Given the description of an element on the screen output the (x, y) to click on. 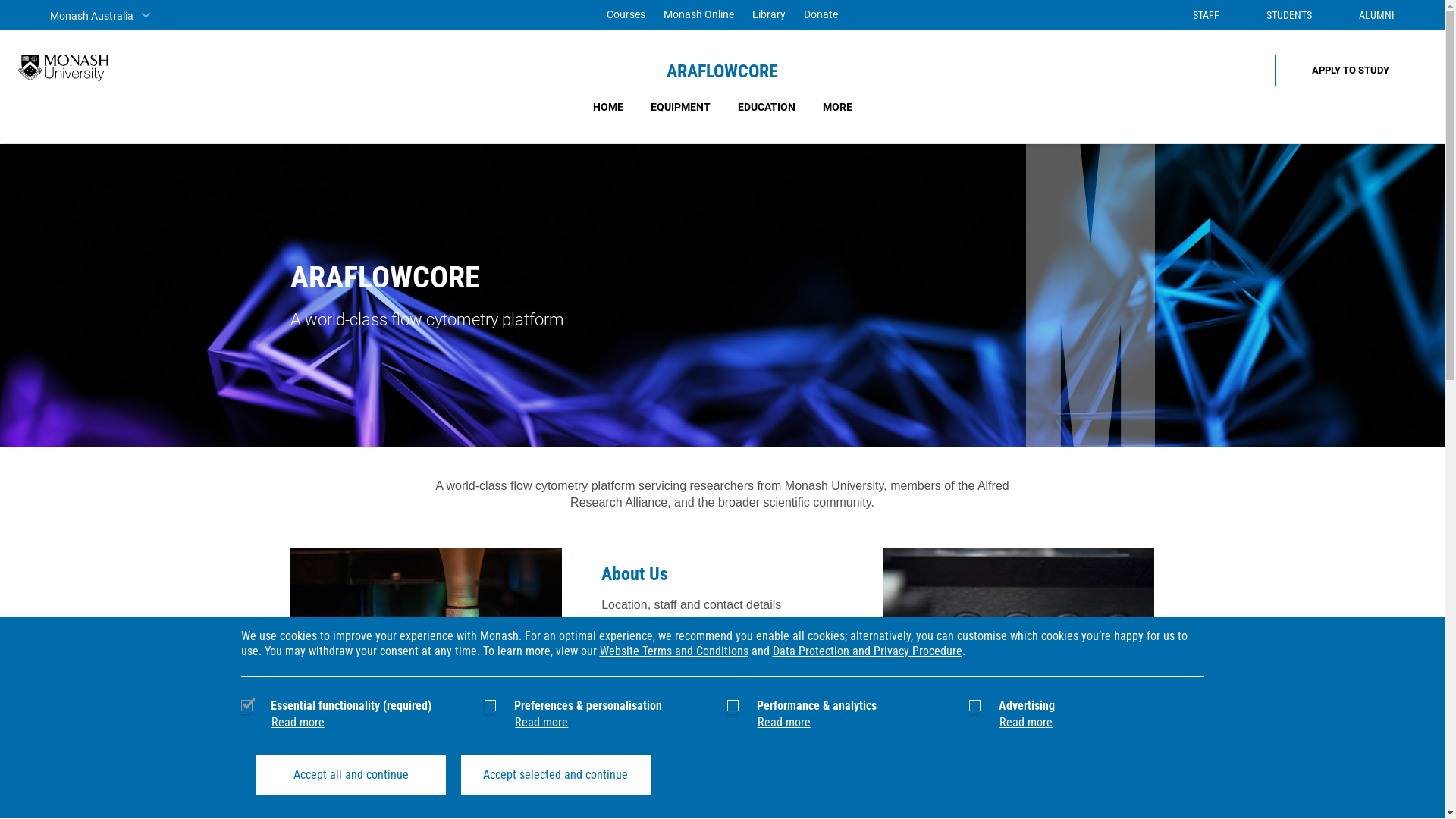
Read more Element type: text (540, 722)
FlowCore Nodes Element type: text (660, 717)
EDUCATION Element type: text (765, 106)
Courses Element type: text (625, 15)
MORE Element type: text (836, 106)
SEARCH Element type: text (1422, 15)
EQUIPMENT Element type: text (680, 106)
Accept selected and continue Element type: text (555, 774)
Accept all and continue Element type: text (350, 774)
About Us Element type: text (634, 573)
Read more Element type: text (783, 722)
Website Terms and Conditions Element type: text (673, 650)
APPLY TO STUDY Element type: text (1350, 70)
HOME Element type: text (608, 106)
Book Now Element type: text (340, 754)
Access and Rates Element type: text (961, 754)
Read more Element type: text (1025, 722)
Donate Element type: text (820, 15)
Read more Element type: text (297, 722)
ARAFLOWCORE Element type: text (722, 71)
Monash University Element type: hover (63, 67)
ARAFLOWCORE
A world-class flow cytometry platform Element type: text (721, 295)
ALUMNI Element type: text (1365, 15)
STUDENTS Element type: text (1277, 15)
Home
Home icon Element type: text (21, 15)
STAFF Element type: text (1194, 15)
Monash Australia Element type: text (99, 15)
Library Element type: text (768, 15)
Data Protection and Privacy Procedure Element type: text (866, 650)
Monash Online Element type: text (698, 15)
